Given the description of an element on the screen output the (x, y) to click on. 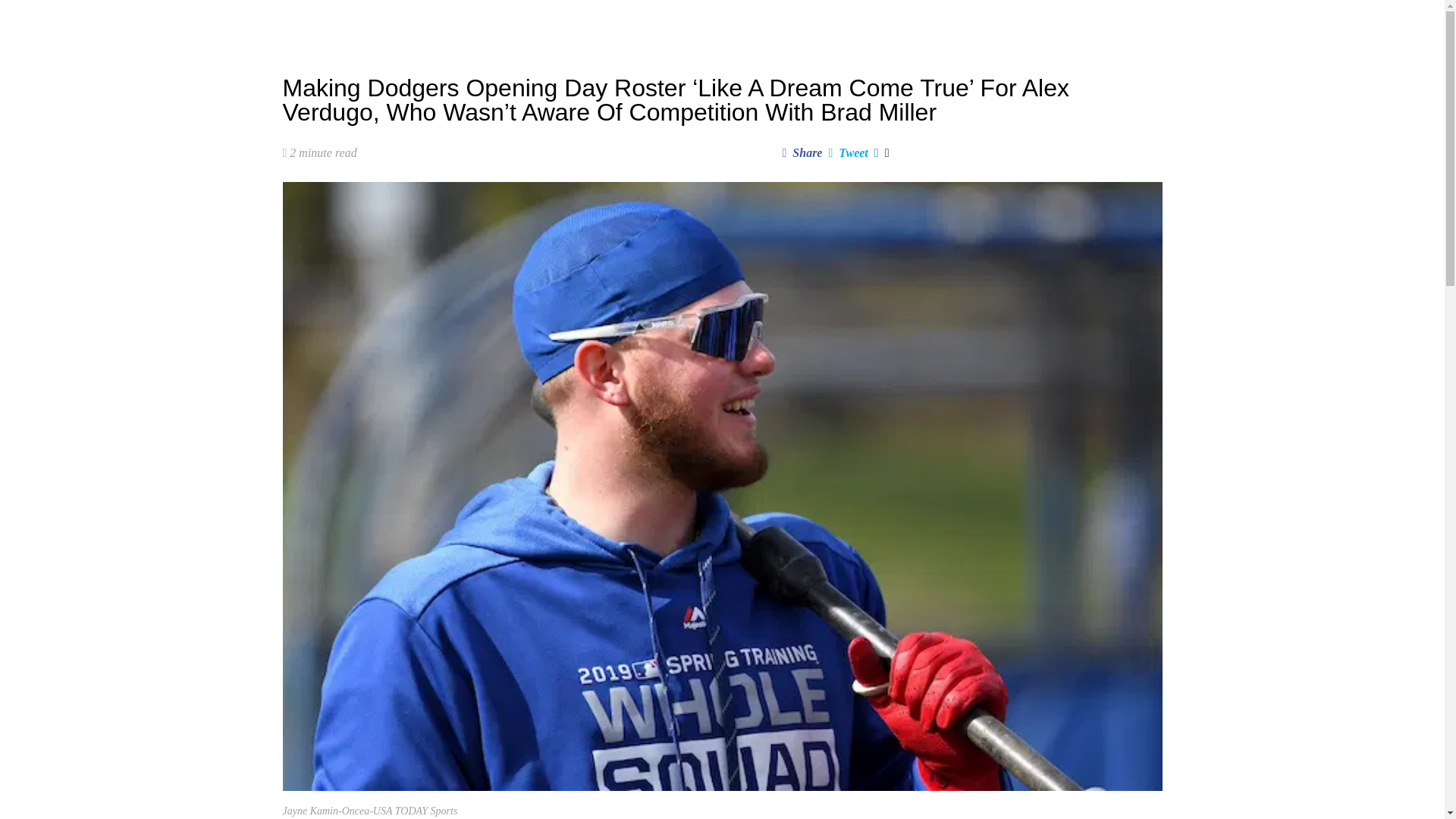
Dodgers News (440, 22)
Schedules (578, 22)
Rumors (513, 22)
Team (640, 22)
Dodger Blue (322, 22)
